Given the description of an element on the screen output the (x, y) to click on. 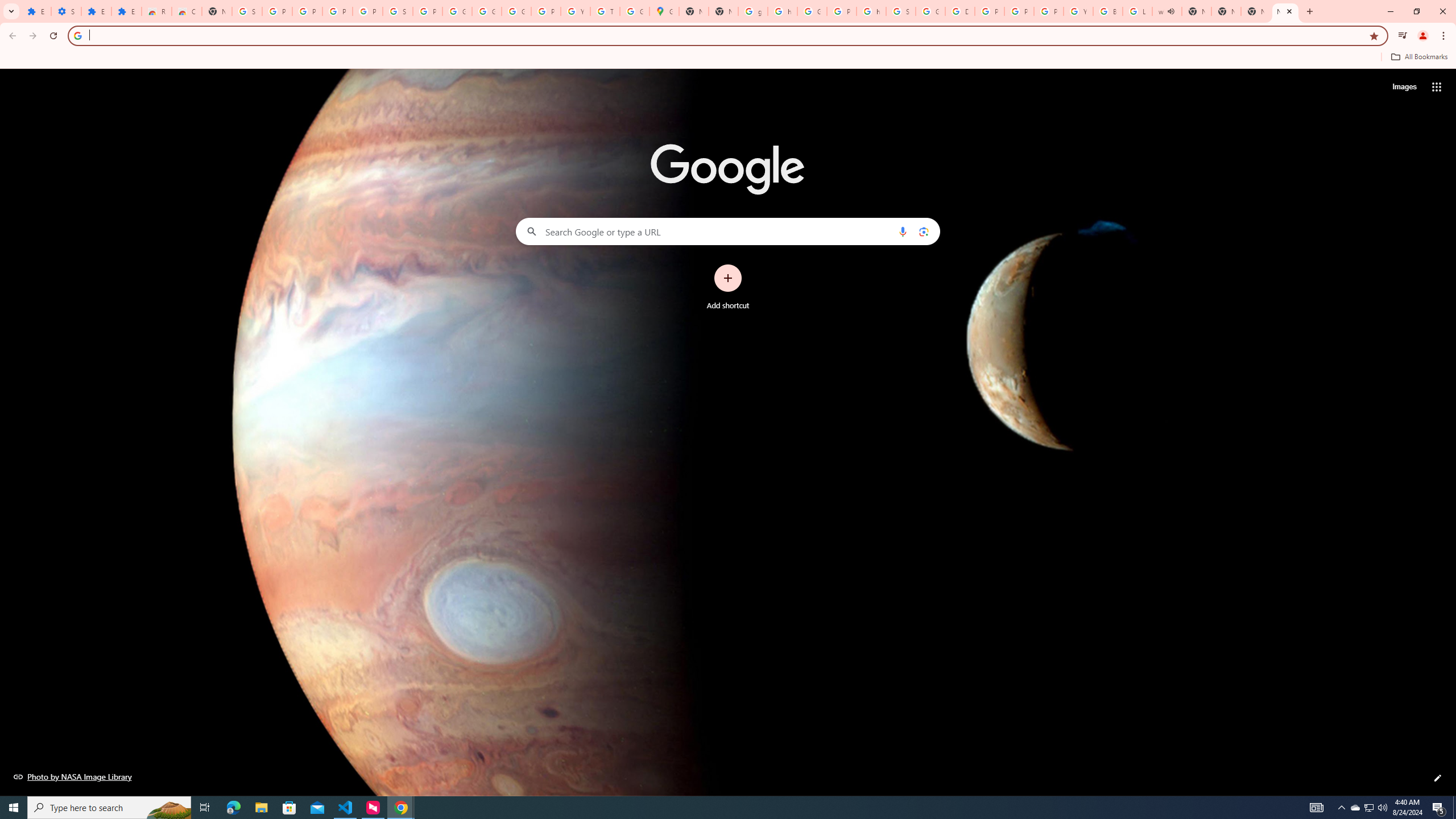
Reviews: Helix Fruit Jump Arcade Game (156, 11)
https://scholar.google.com/ (871, 11)
Sign in - Google Accounts (397, 11)
